Given the description of an element on the screen output the (x, y) to click on. 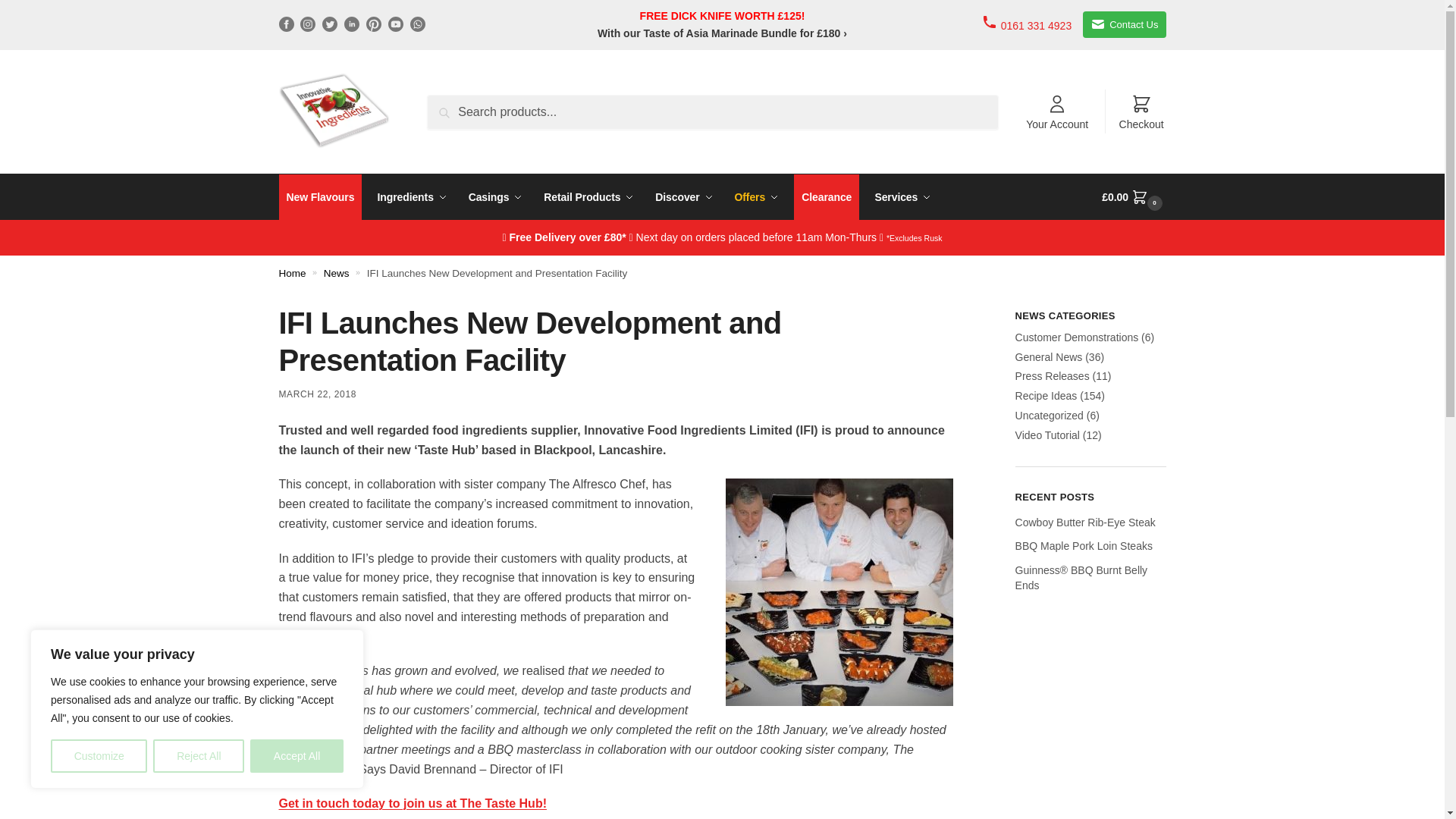
Your Account (1056, 111)
New Flavours (320, 197)
Search (450, 105)
Contact Us (1124, 24)
Accept All (296, 756)
0161 331 4923 (1026, 24)
View your shopping cart (1134, 197)
Customize (98, 756)
Checkout (1141, 111)
Ingredients (411, 197)
Reject All (198, 756)
